Given the description of an element on the screen output the (x, y) to click on. 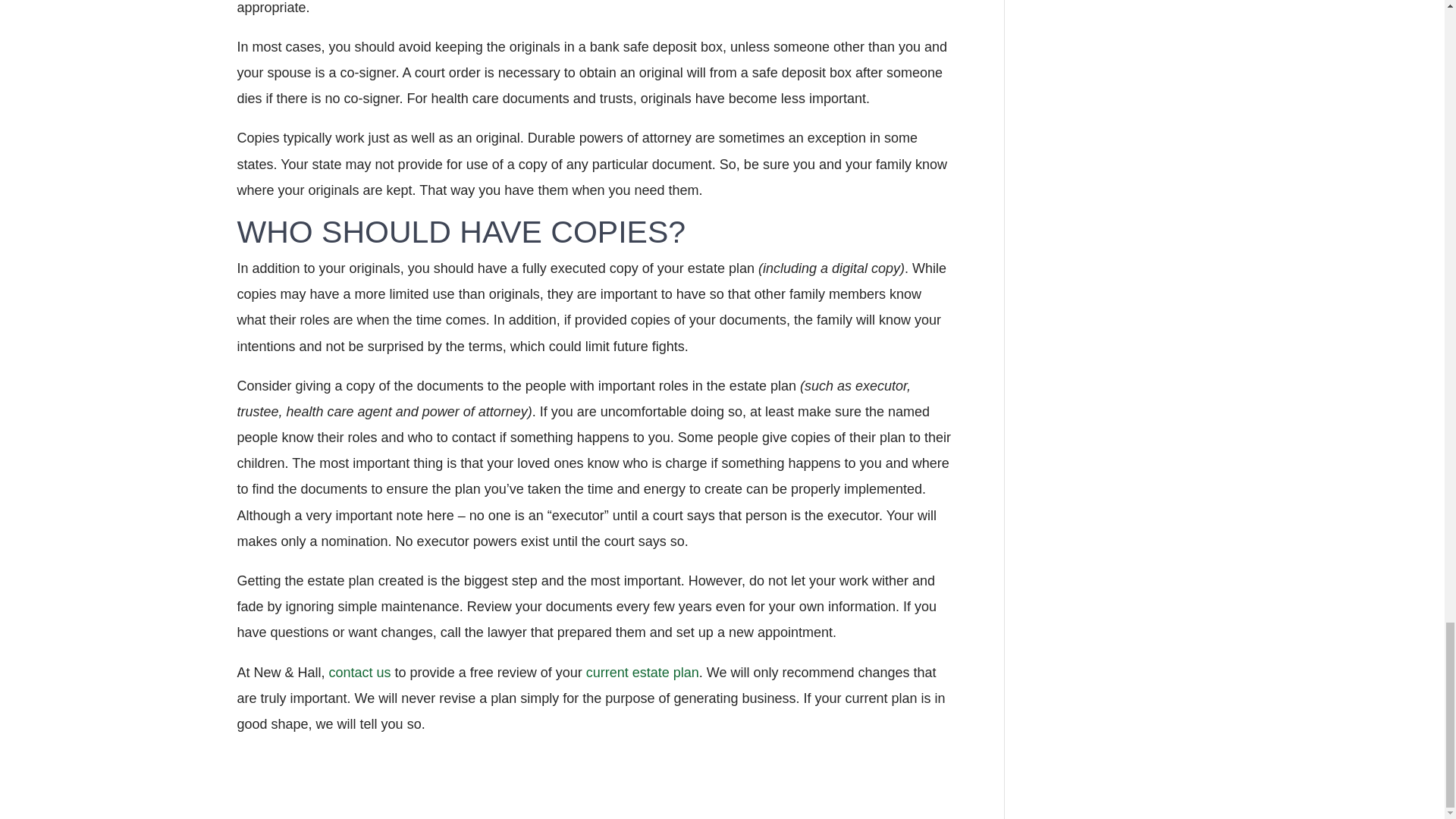
contact us (360, 672)
current estate plan (642, 672)
